Given the description of an element on the screen output the (x, y) to click on. 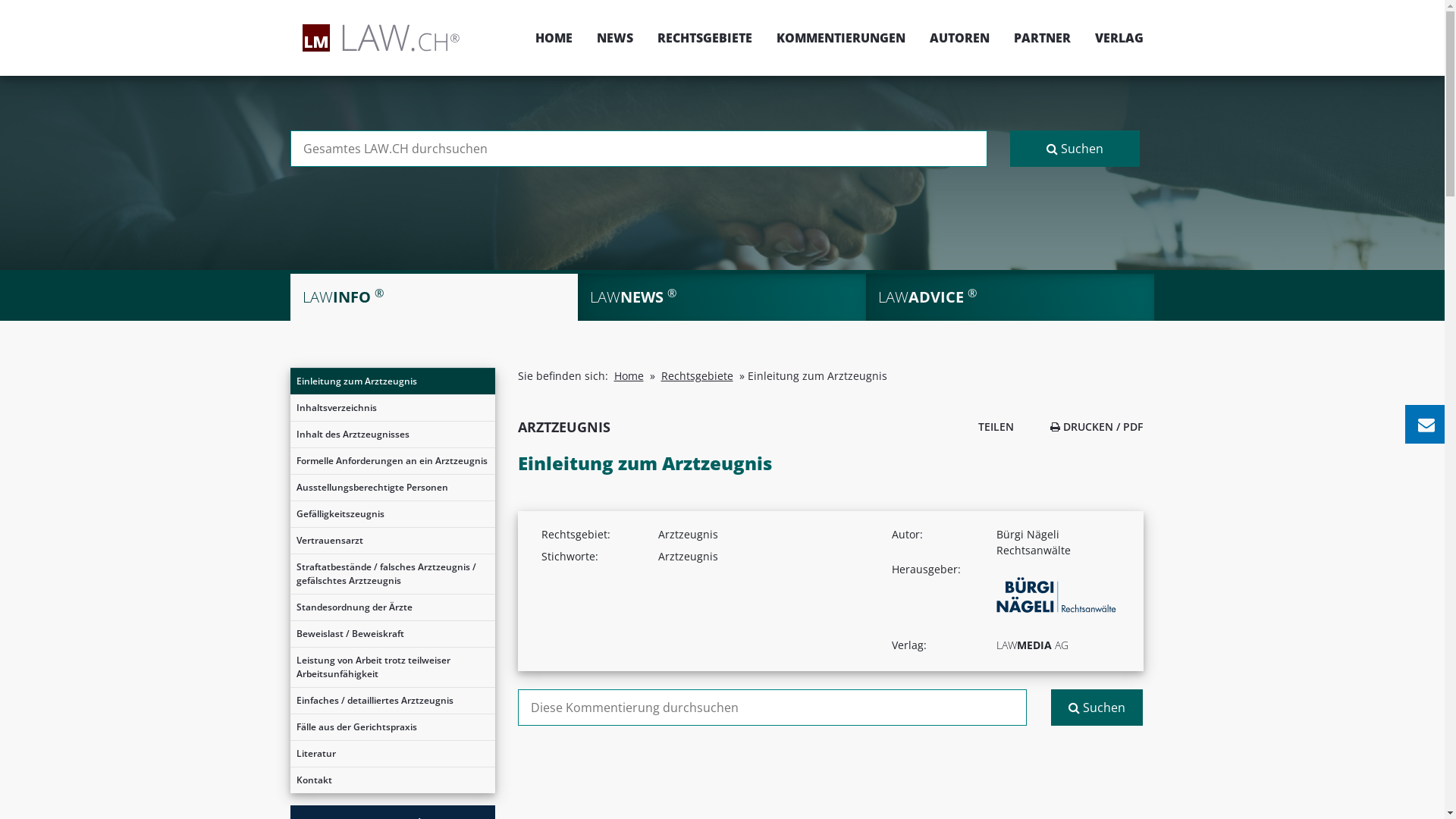
Inhaltsverzeichnis Element type: text (391, 407)
NEWS Element type: text (613, 37)
KOMMENTIERUNGEN Element type: text (840, 37)
 TEILEN Element type: text (991, 426)
Home Element type: text (628, 375)
Inhalt des Arztzeugnisses Element type: text (391, 434)
Skip to content Element type: text (1443, 0)
Beweislast / Beweiskraft Element type: text (391, 633)
Vertrauensarzt Element type: text (391, 540)
Einfaches / detailliertes Arztzeugnis Element type: text (391, 700)
Literatur Element type: text (391, 753)
 DRUCKEN / PDF Element type: text (1096, 426)
HOME Element type: text (553, 37)
Ausstellungsberechtigte Personen Element type: text (391, 487)
RECHTSGEBIETE Element type: text (703, 37)
Suchen nach: Element type: hover (637, 148)
PARTNER Element type: text (1041, 37)
Einleitung zum Arztzeugnis Element type: text (391, 381)
Formelle Anforderungen an ein Arztzeugnis Element type: text (391, 460)
Rechtsgebiete Element type: text (697, 375)
VERLAG Element type: text (1112, 37)
Kontakt Element type: text (391, 780)
Suchen nach: Element type: hover (771, 707)
AUTOREN Element type: text (959, 37)
